Given the description of an element on the screen output the (x, y) to click on. 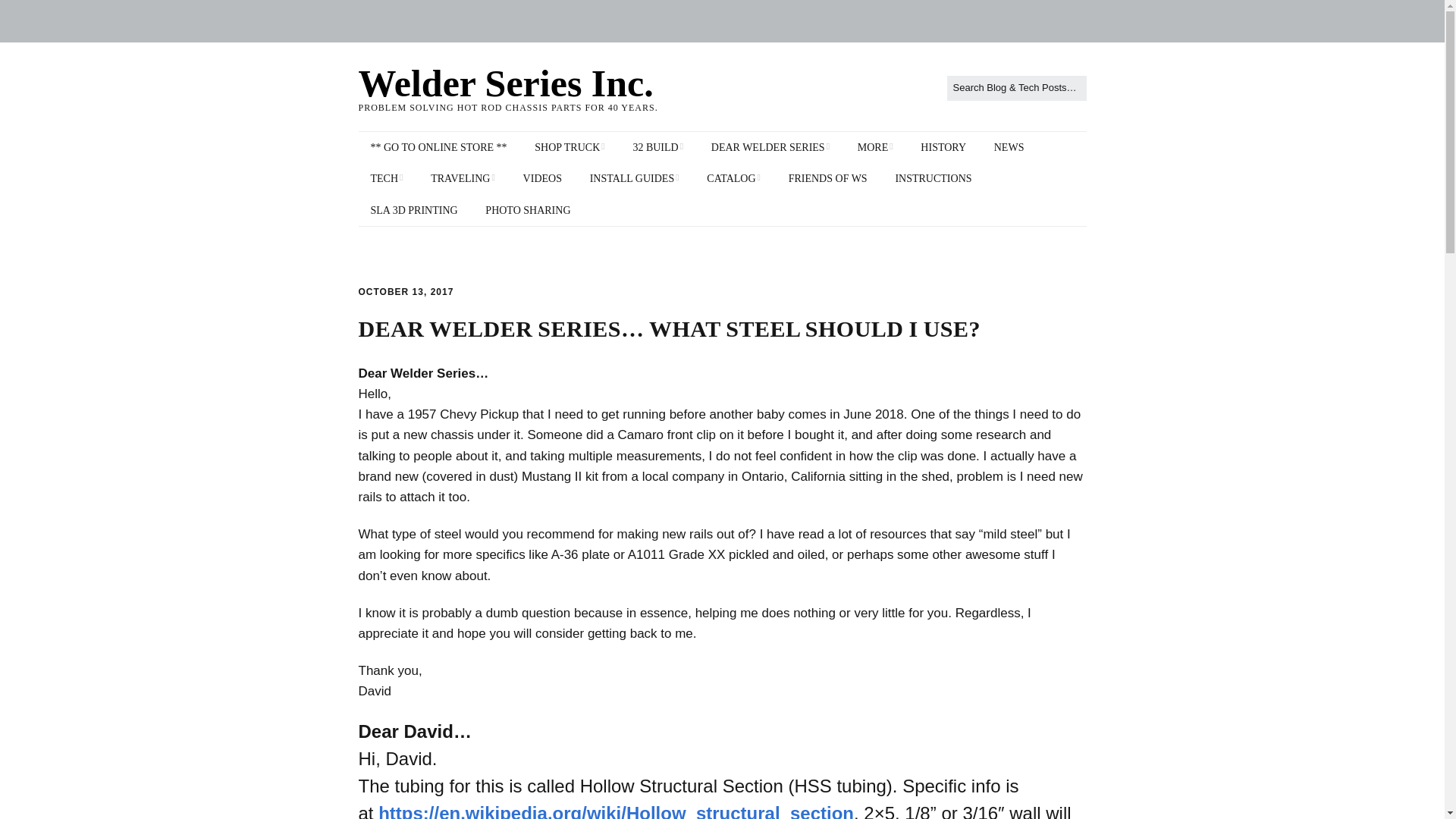
Welder Series Inc. (505, 83)
32 BUILD (657, 147)
DEAR WELDER SERIES (769, 147)
Search (26, 15)
SHOP TRUCK (568, 147)
Press Enter to submit your search (1016, 88)
